Given the description of an element on the screen output the (x, y) to click on. 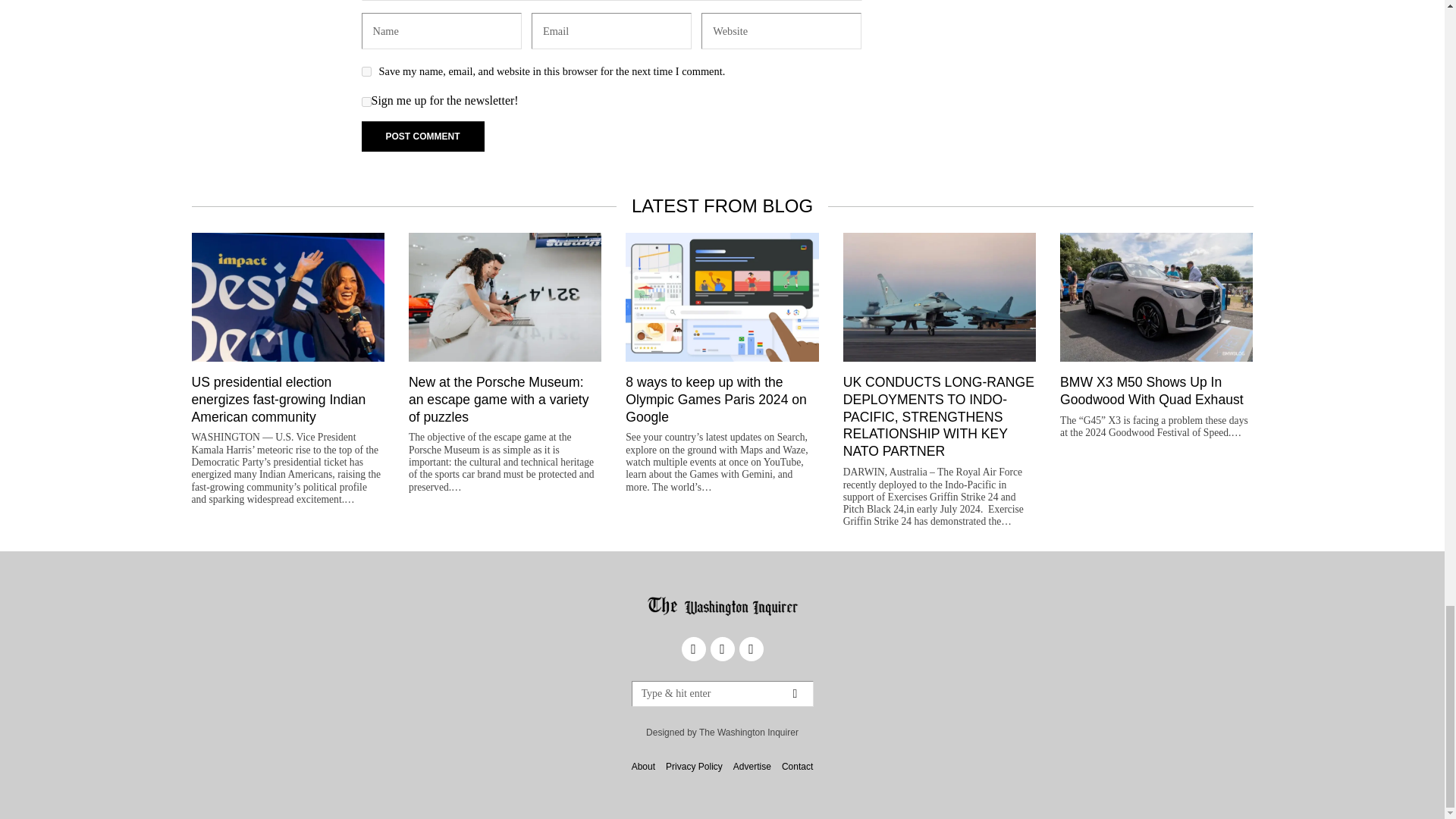
1 (366, 102)
Post Comment (422, 136)
yes (366, 71)
